Given the description of an element on the screen output the (x, y) to click on. 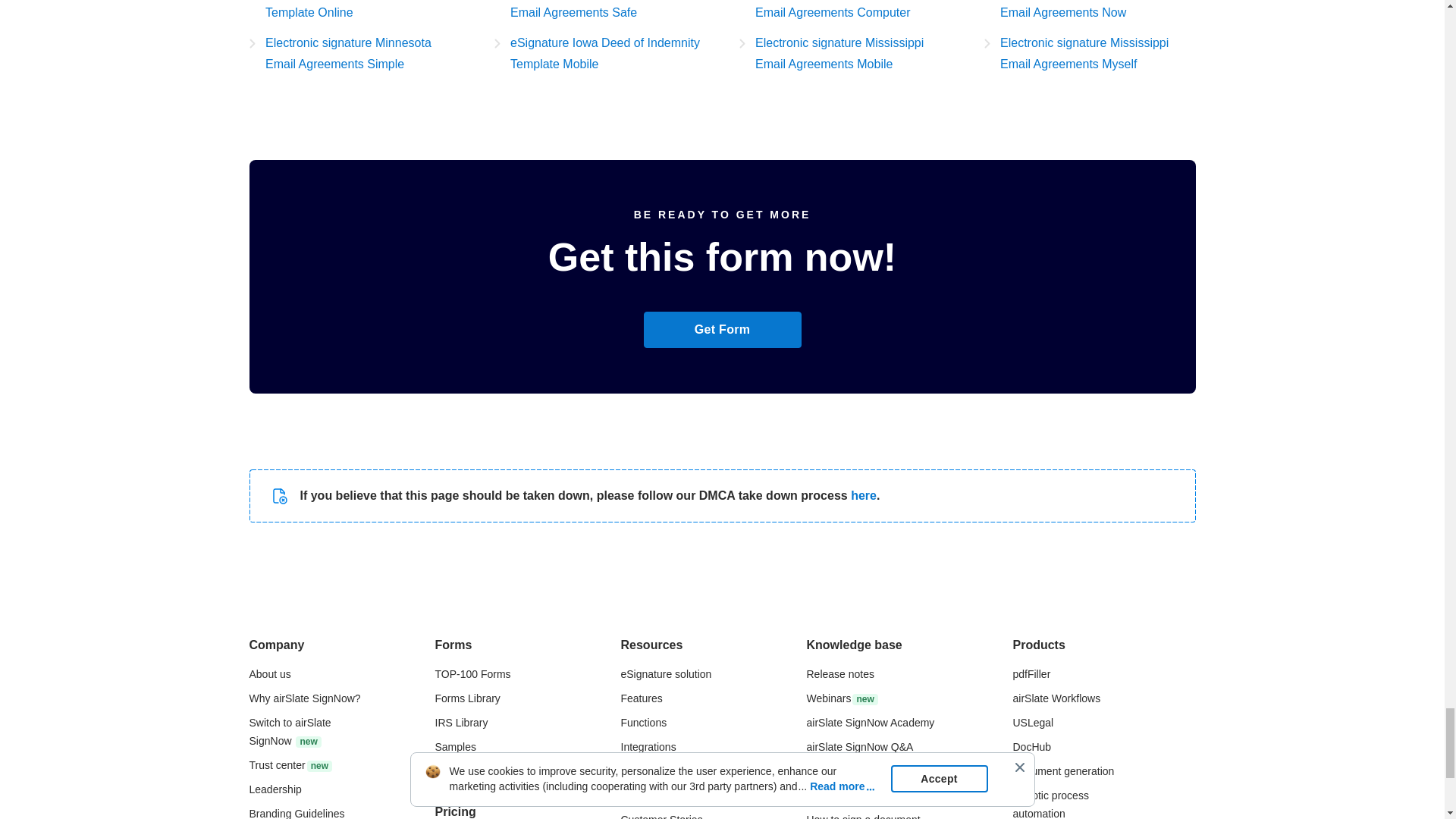
Go to the Migrate page (289, 731)
Go to the About Us page (268, 674)
Go to the  airSlate signNow  irs library page (461, 722)
Go to the leadership page (274, 788)
Go to the trust center page (289, 765)
Go to the sample documents page (455, 746)
Go to the top 100 forms page (473, 674)
Go to the Why  airSlate signNow ? page (303, 698)
Go to the Brand page (295, 813)
Go to the  airSlate signNow  forms library page (467, 698)
Go to the  airSlate signNow  templates page (459, 770)
